Given the description of an element on the screen output the (x, y) to click on. 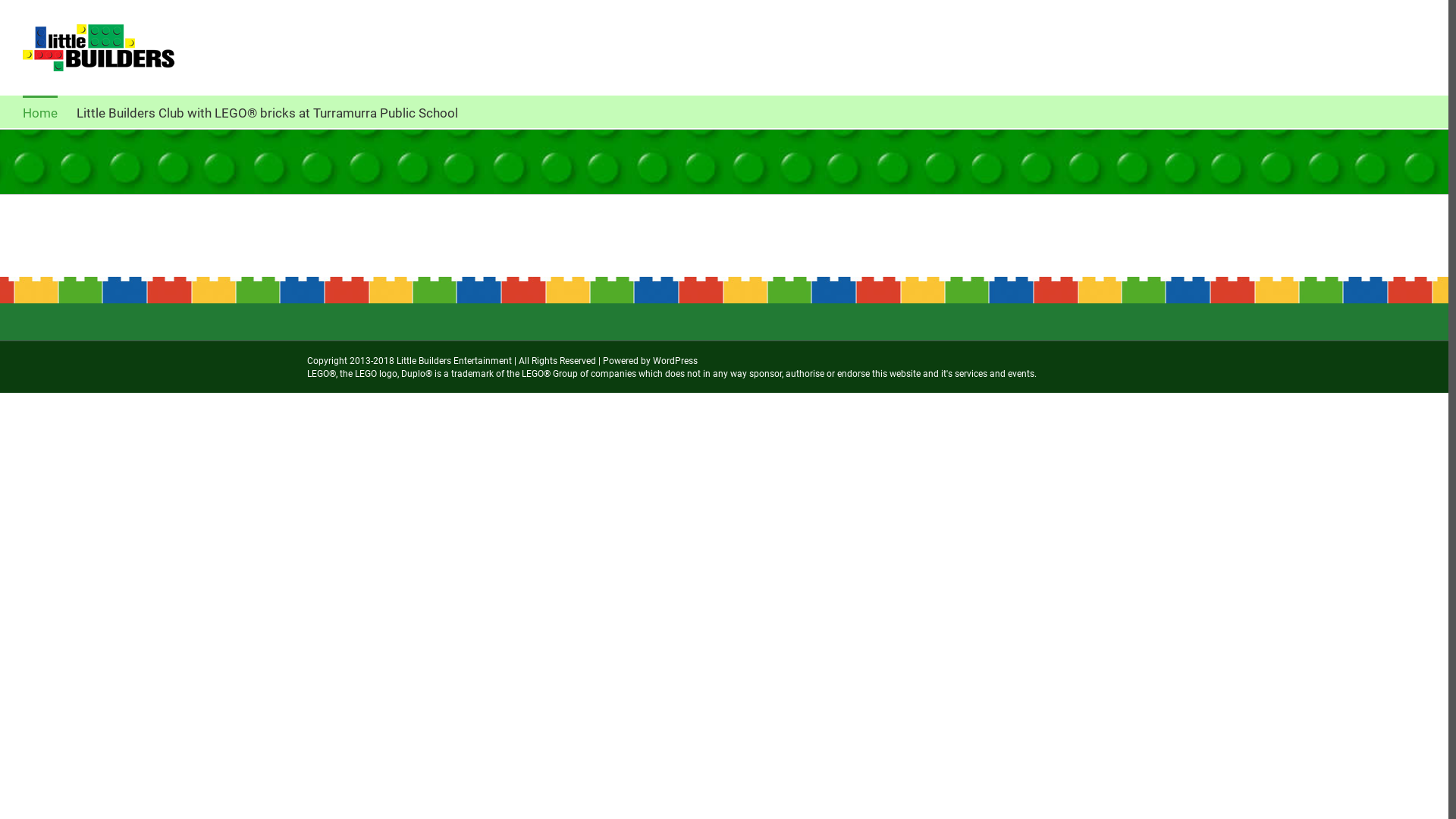
Home Element type: text (39, 111)
WordPress Element type: text (674, 360)
